Given the description of an element on the screen output the (x, y) to click on. 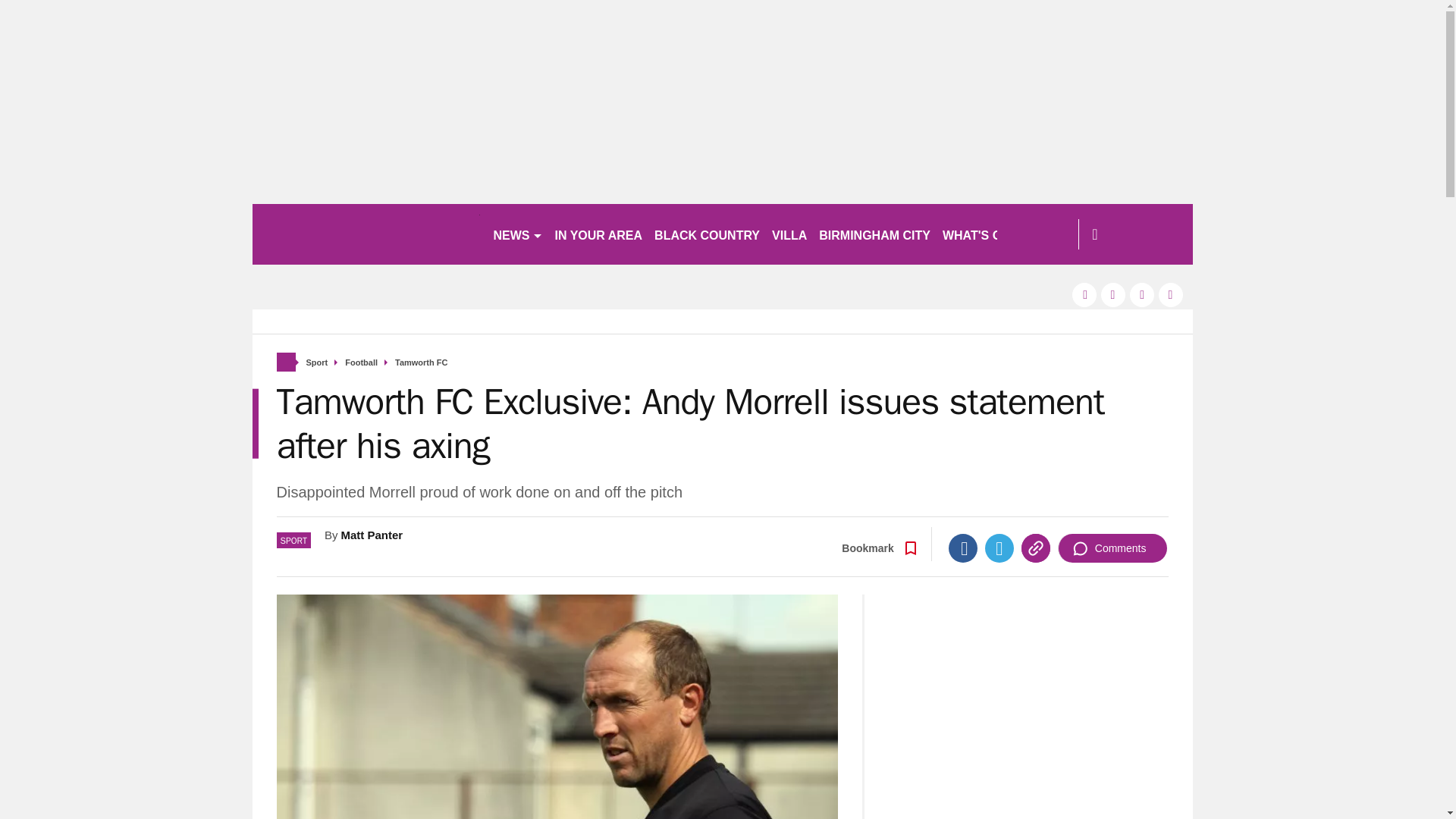
twitter (1112, 294)
WHAT'S ON (982, 233)
instagram (1170, 294)
Twitter (999, 547)
BIRMINGHAM CITY (874, 233)
tiktok (1141, 294)
NEWS (517, 233)
Facebook (962, 547)
BLACK COUNTRY (706, 233)
IN YOUR AREA (598, 233)
facebook (1083, 294)
birminghammail (365, 233)
Comments (1112, 547)
